Given the description of an element on the screen output the (x, y) to click on. 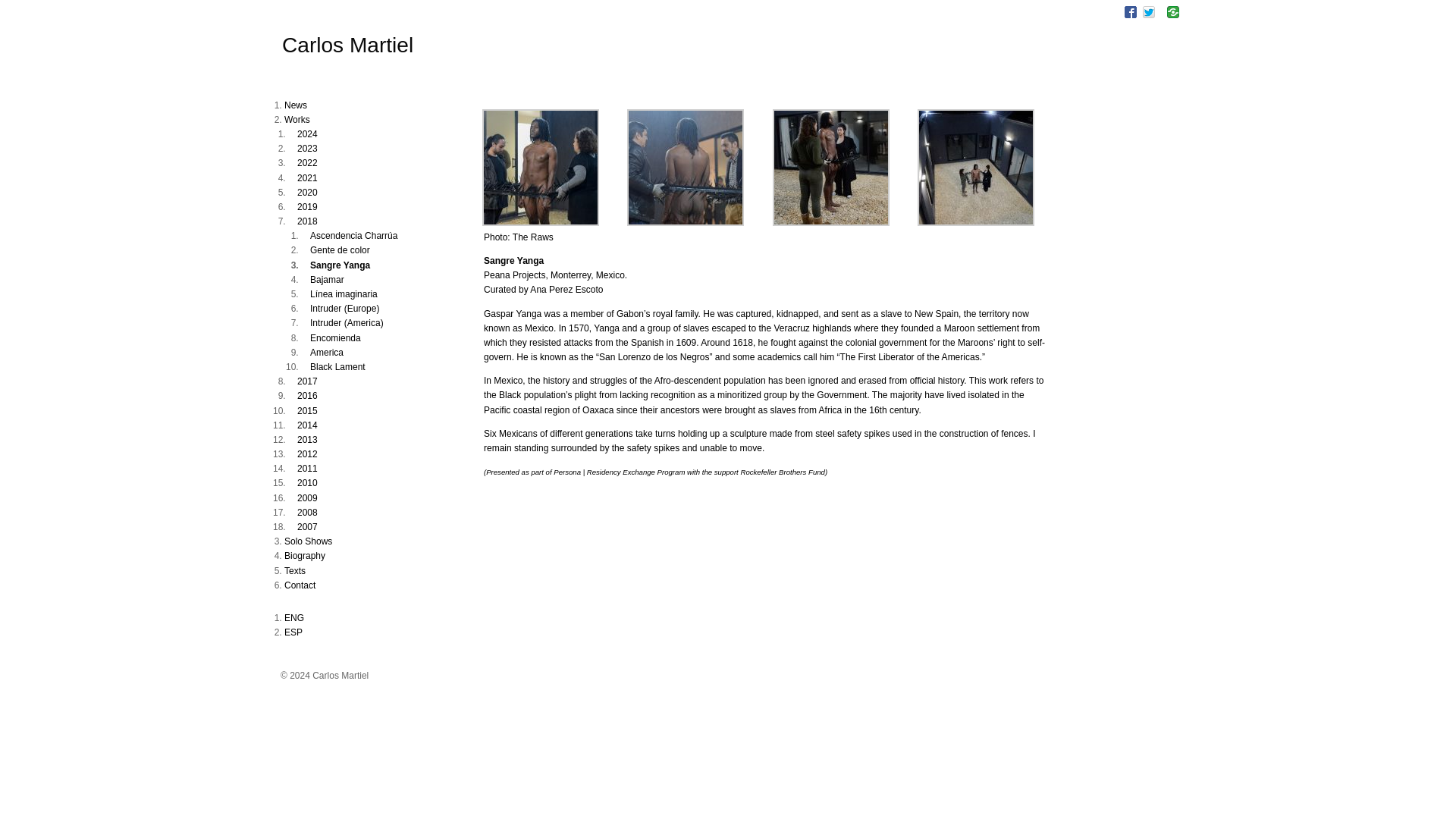
Works (296, 119)
Facebook (1130, 11)
2022 (307, 163)
Sangre Yanga (975, 222)
News (295, 104)
Sangre Yanga (831, 222)
Sangre Yanga (685, 222)
Carlos Martiel (347, 44)
2021 (307, 177)
Sangre Yanga (539, 222)
2023 (307, 148)
ENG (293, 617)
2024 (307, 133)
Twitter (1148, 11)
ESP (292, 632)
